Given the description of an element on the screen output the (x, y) to click on. 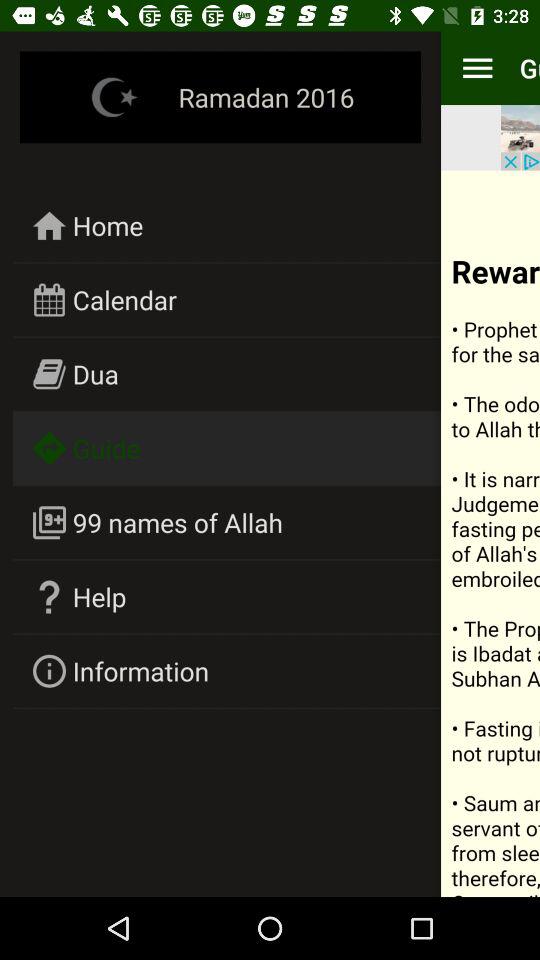
tap item to the left of the guide item (477, 68)
